Given the description of an element on the screen output the (x, y) to click on. 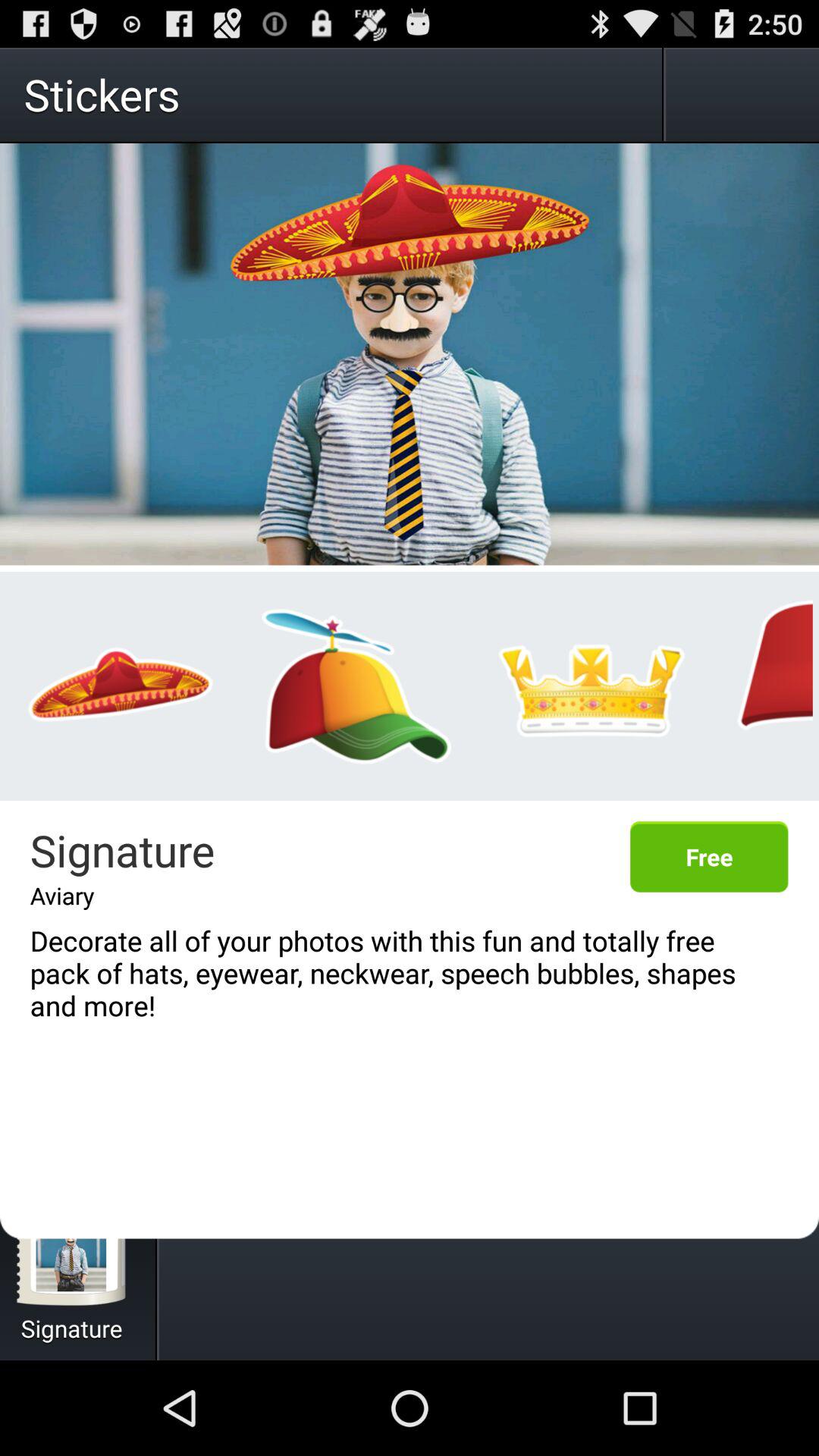
select the sticker which is above signature (120, 686)
click on icon at the bottom left corner (71, 1248)
select the sticker right to the cap sticker (591, 686)
